Given the description of an element on the screen output the (x, y) to click on. 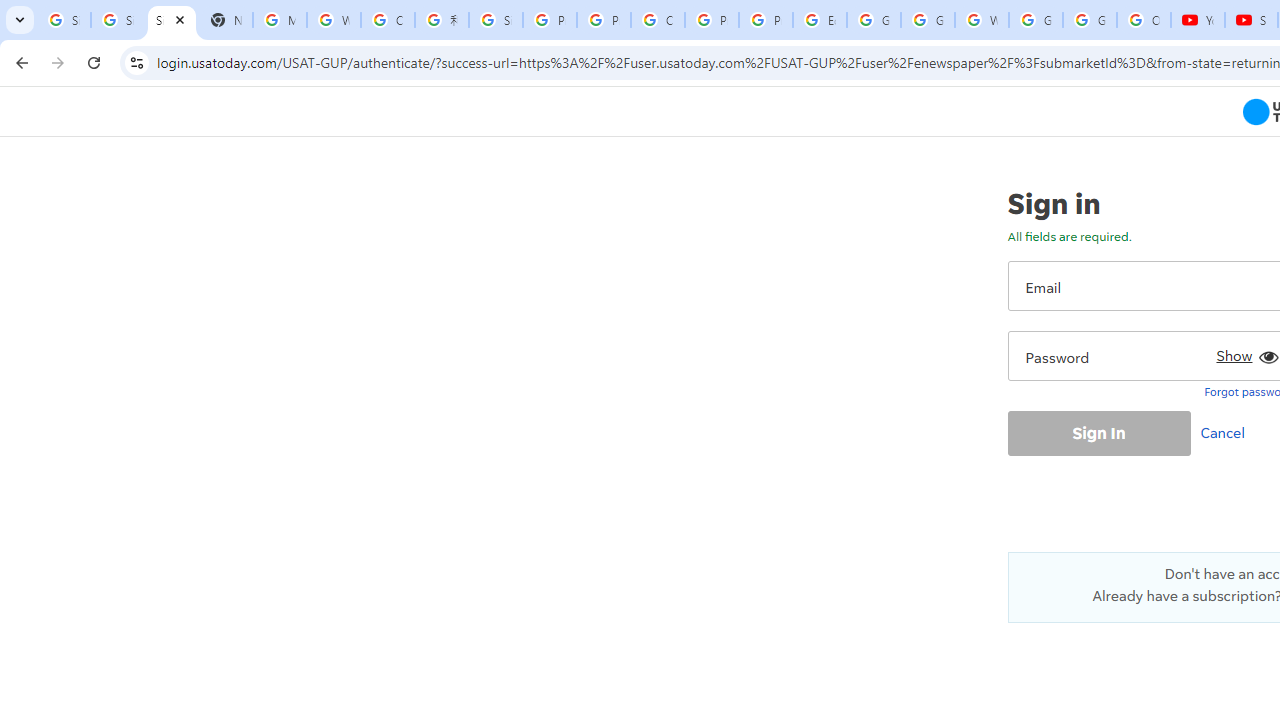
Google Slides: Sign-in (874, 20)
Welcome to My Activity (981, 20)
YouTube (1197, 20)
Sign in - Google Accounts (63, 20)
Create your Google Account (387, 20)
